Given the description of an element on the screen output the (x, y) to click on. 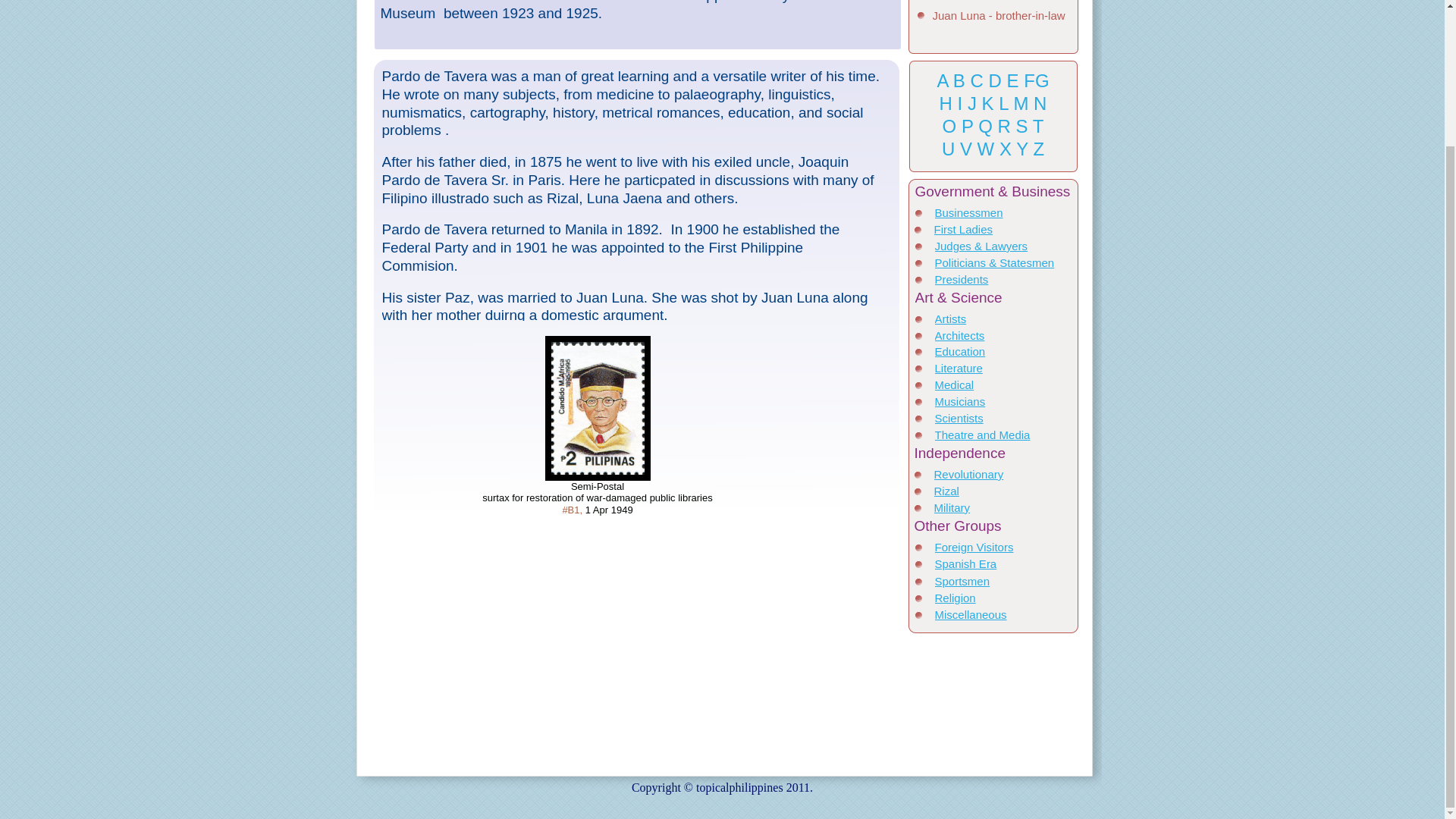
Religion (954, 597)
Architects (959, 335)
Presidents (961, 278)
Medical (954, 384)
Rizal (946, 490)
First Ladies (963, 228)
Military (952, 507)
Artists (950, 318)
Miscellaneous (970, 614)
Spanish Era (964, 563)
